Given the description of an element on the screen output the (x, y) to click on. 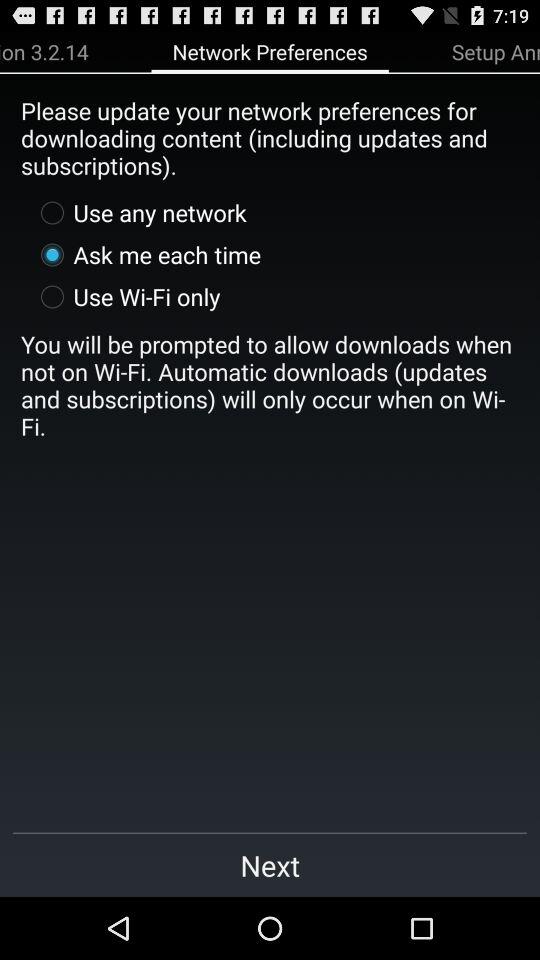
choose the item next to the network preferences item (44, 51)
